Given the description of an element on the screen output the (x, y) to click on. 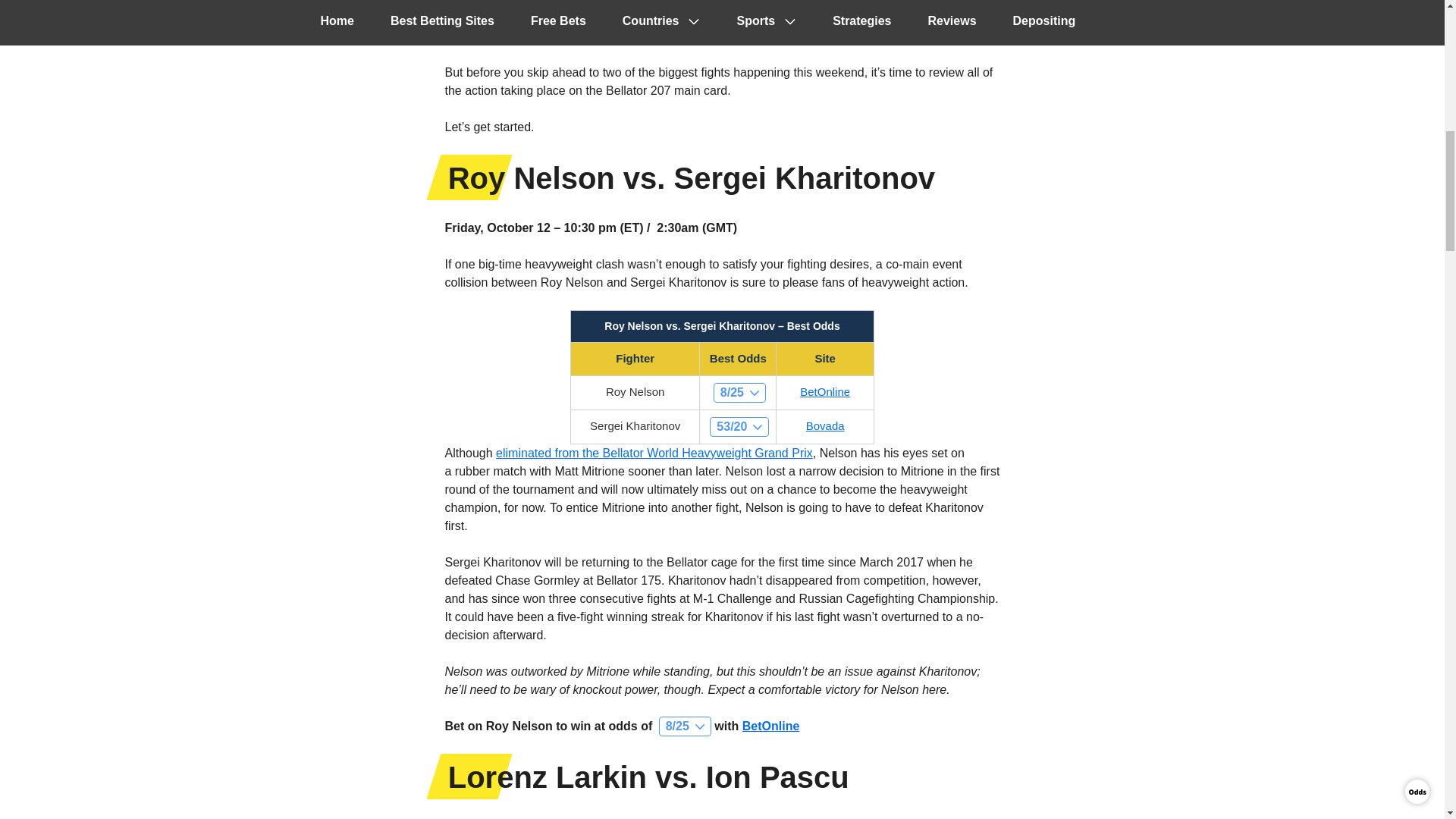
detailed breakdown of Matt Mitrione vs. Ryan Bader (674, 17)
Bovada (825, 425)
BetOnline (824, 391)
